Given the description of an element on the screen output the (x, y) to click on. 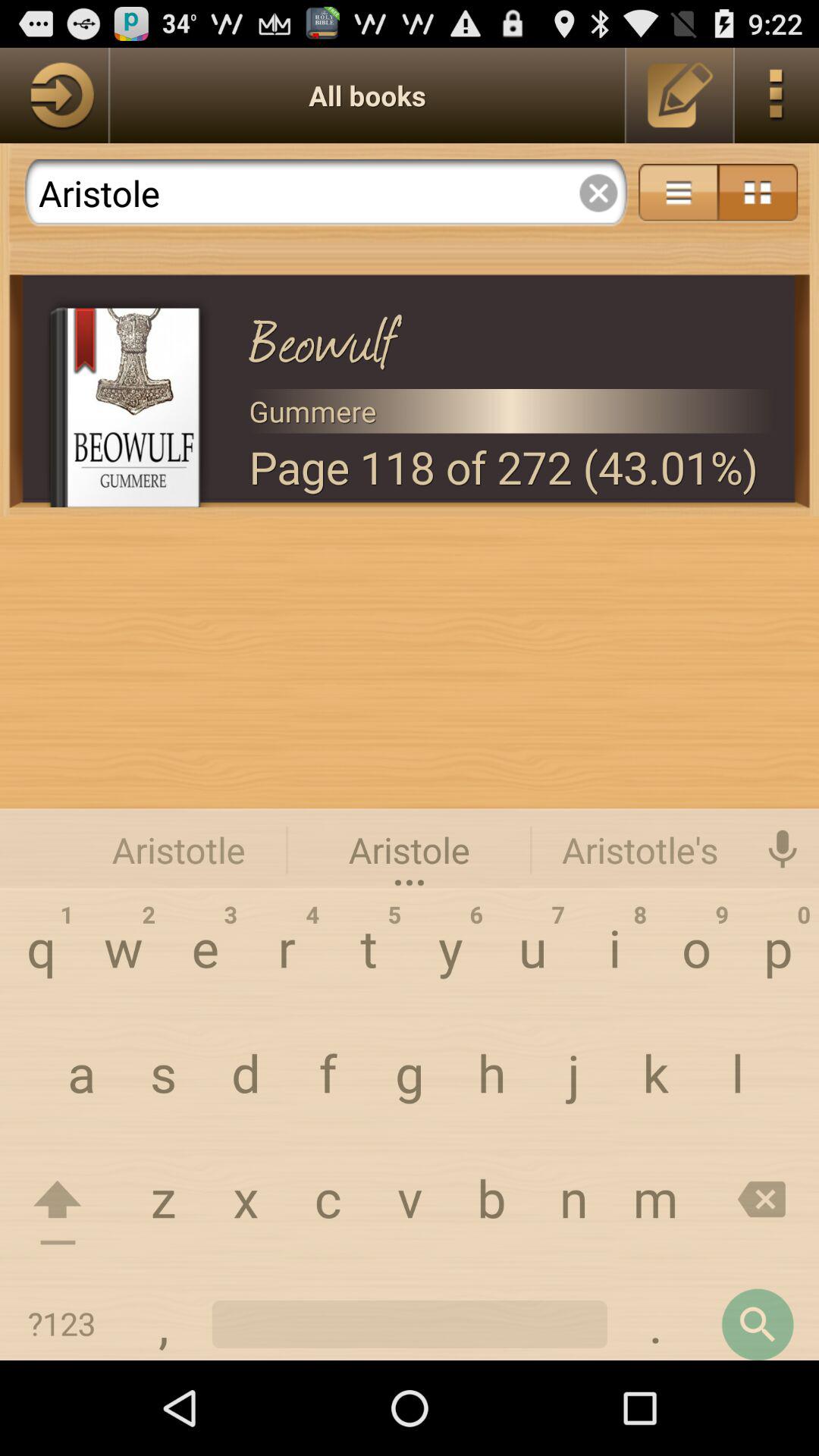
go to menu (776, 95)
